Given the description of an element on the screen output the (x, y) to click on. 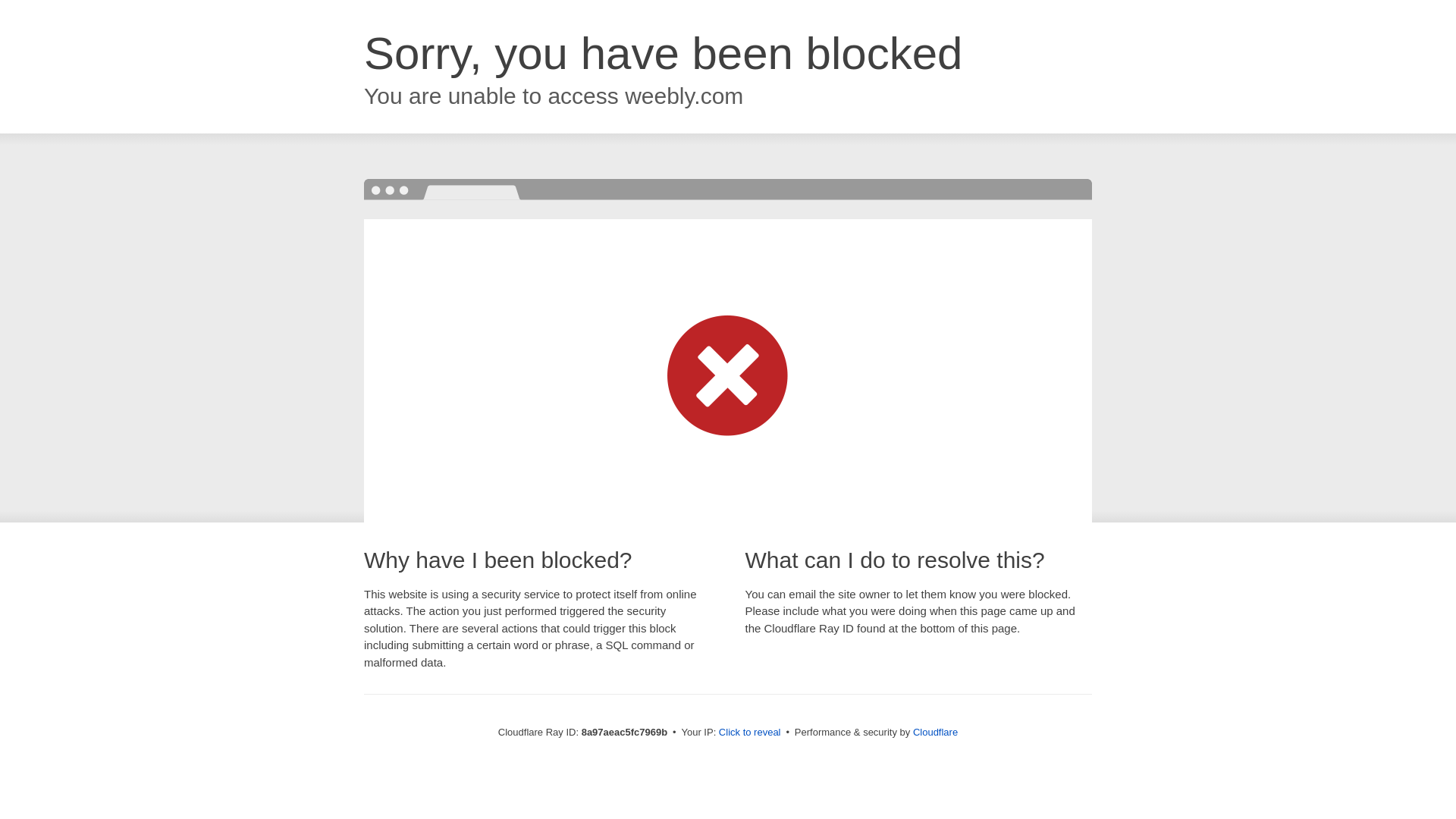
Cloudflare (935, 731)
Click to reveal (749, 732)
